Given the description of an element on the screen output the (x, y) to click on. 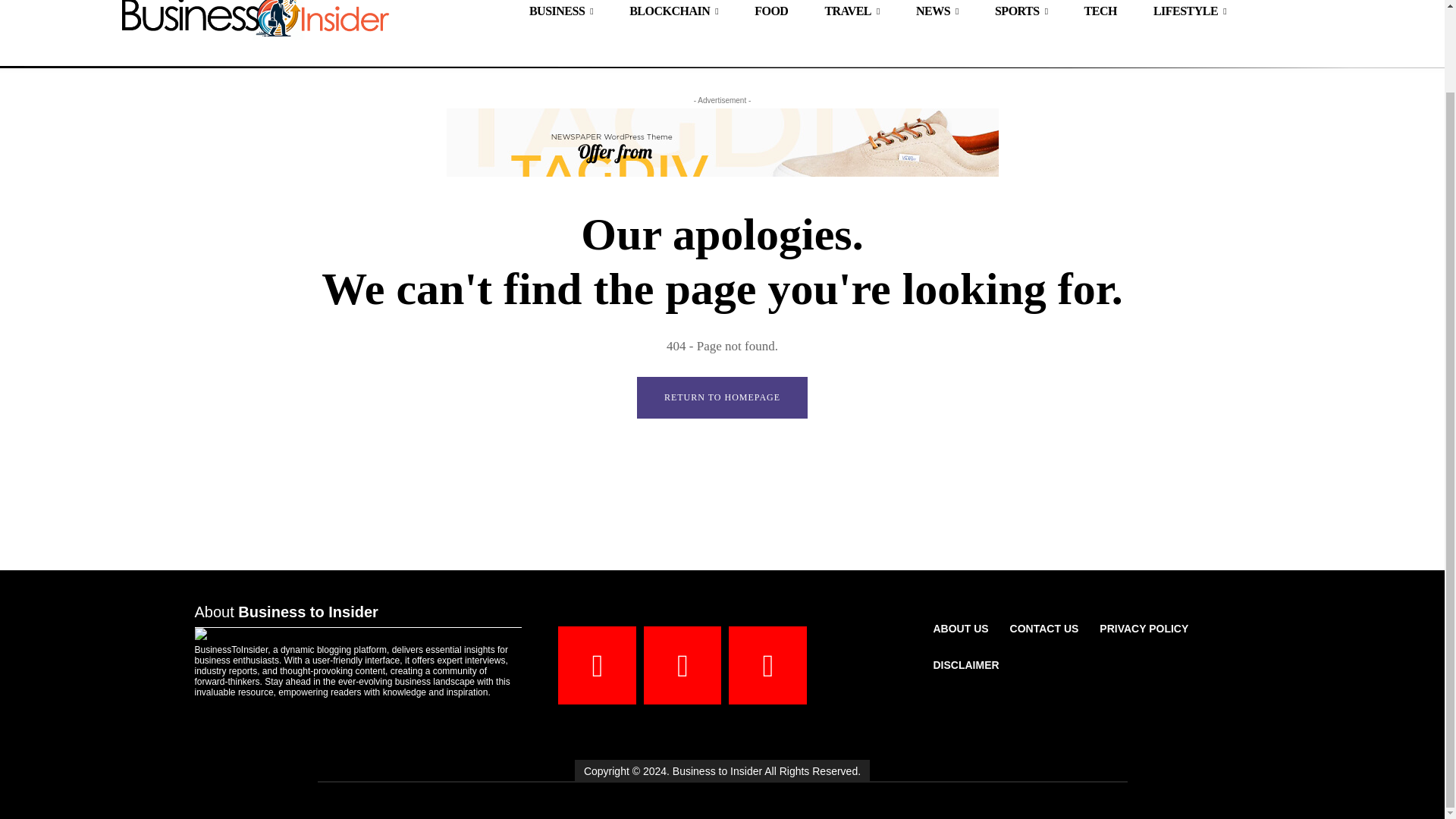
Twitter (767, 665)
Instagram (682, 665)
Facebook (596, 665)
TRAVEL (852, 15)
BLOCKCHAIN (673, 15)
Return to Homepage (722, 397)
FOOD (771, 15)
BUSINESS (561, 15)
